Given the description of an element on the screen output the (x, y) to click on. 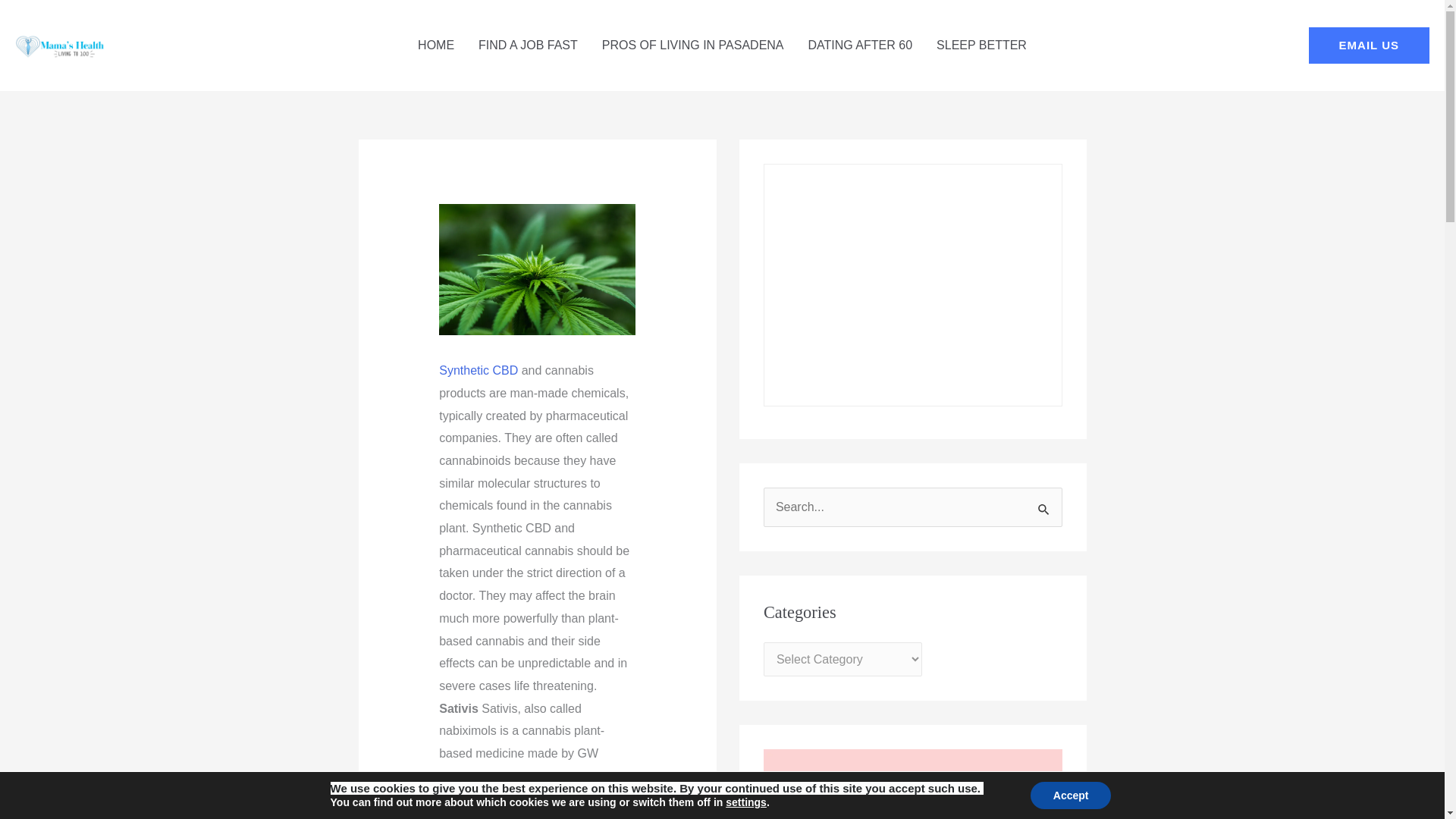
SLEEP BETTER (981, 45)
Accept (1071, 795)
DATING AFTER 60 (860, 45)
EMAIL US (1368, 45)
FIND A JOB FAST (527, 45)
settings (746, 802)
Synthetic CBD (478, 369)
PROS OF LIVING IN PASADENA (692, 45)
